Given the description of an element on the screen output the (x, y) to click on. 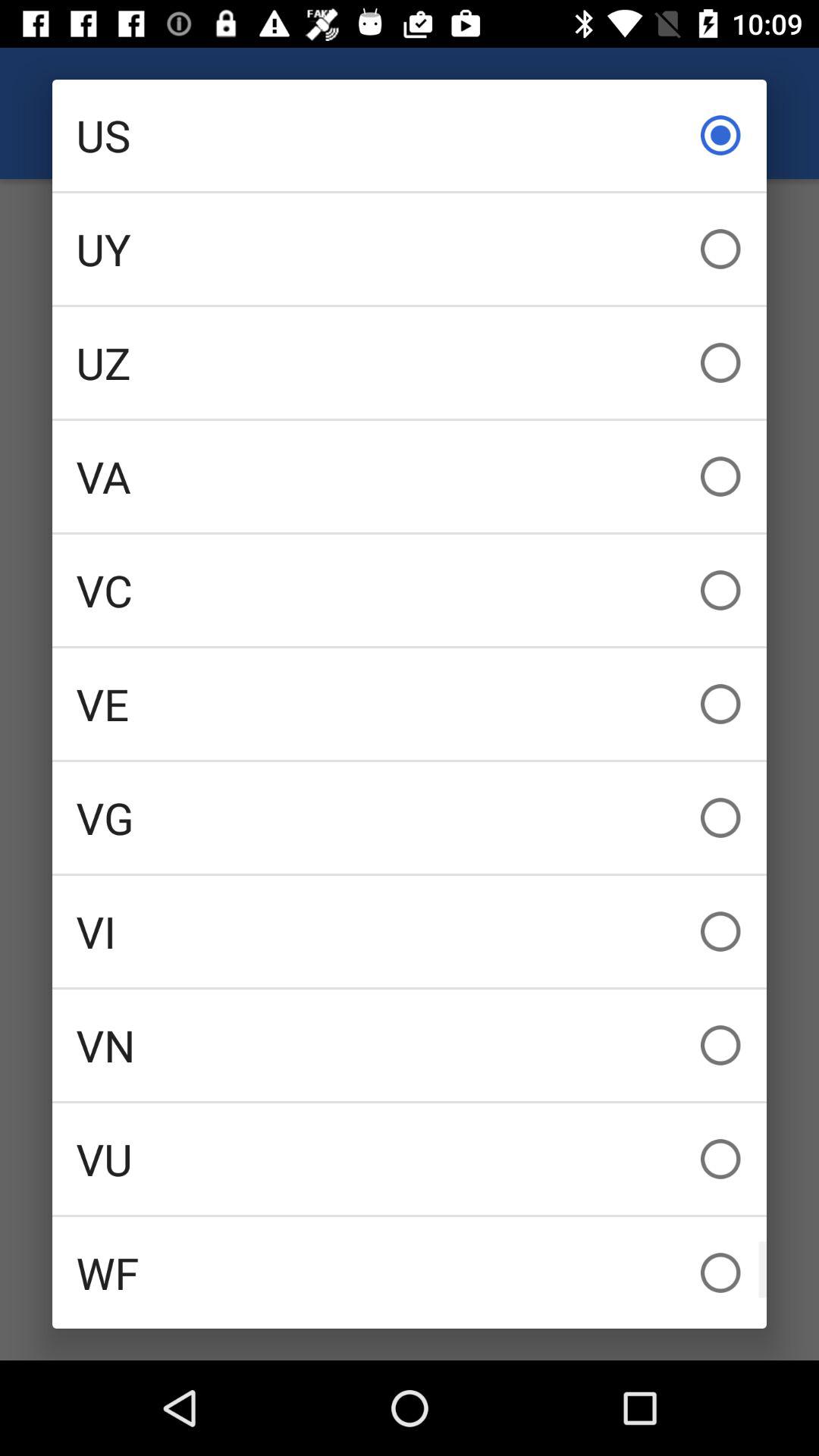
flip to the va icon (409, 476)
